Given the description of an element on the screen output the (x, y) to click on. 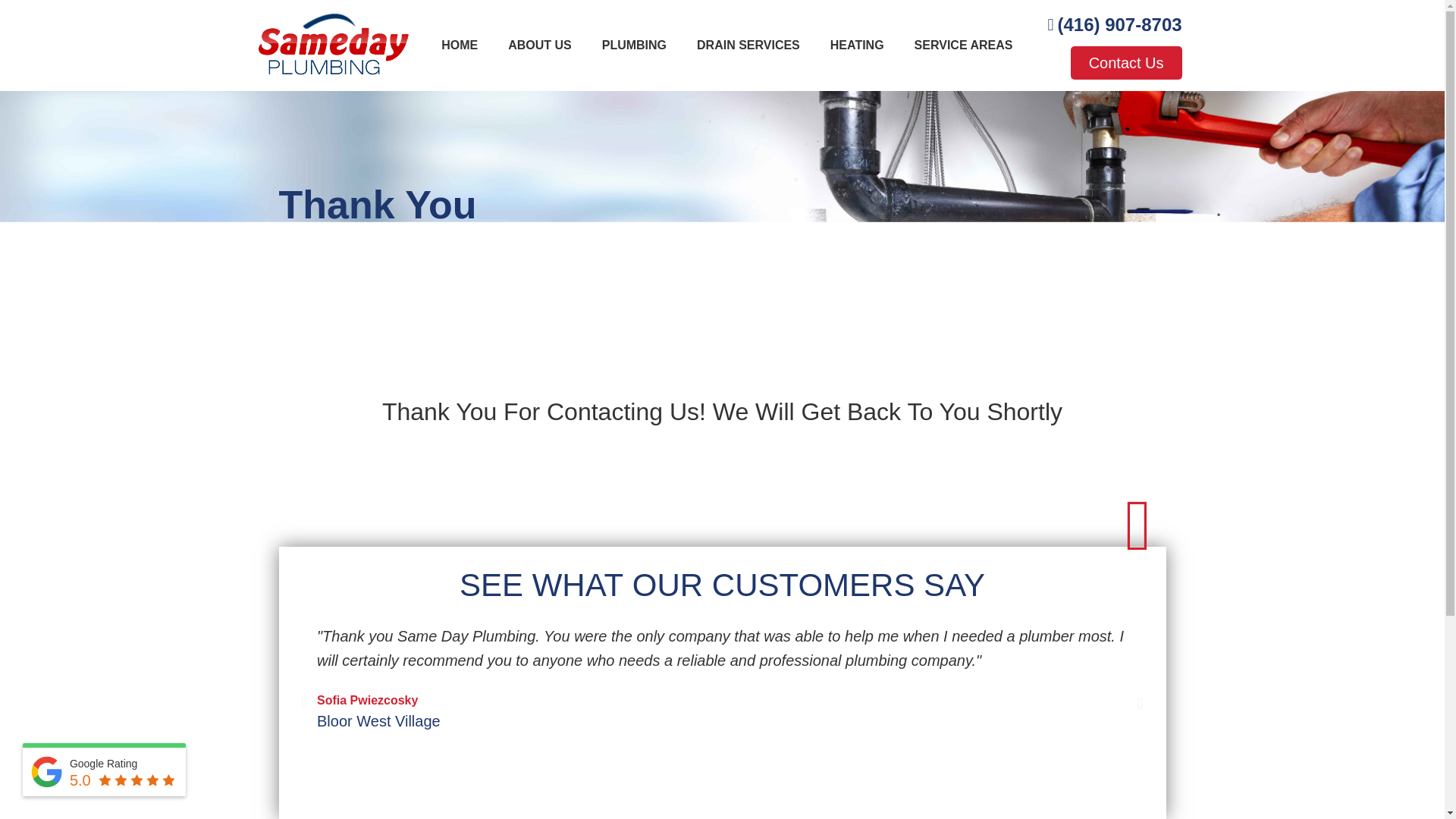
SERVICE AREAS (963, 45)
DRAIN SERVICES (748, 45)
ABOUT US (539, 45)
HEATING (857, 45)
HOME (459, 45)
PLUMBING (633, 45)
